Given the description of an element on the screen output the (x, y) to click on. 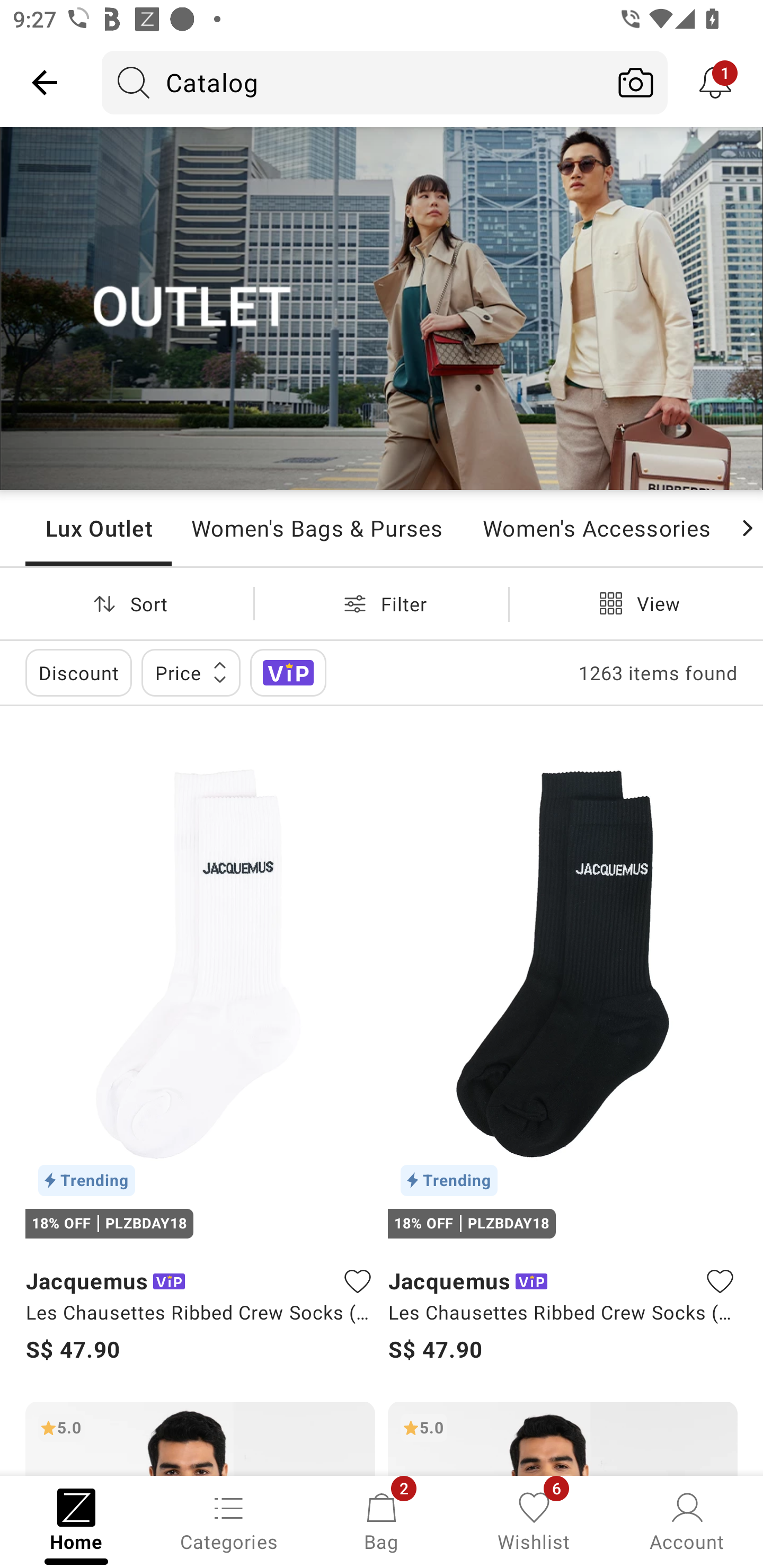
Navigate up (44, 82)
Catalog (352, 82)
Women's Bags & Purses (316, 527)
Women's Accessories (595, 527)
Sort (126, 603)
Filter (381, 603)
View (636, 603)
Discount (78, 672)
Price (190, 672)
Categories (228, 1519)
Bag, 2 new notifications Bag (381, 1519)
Wishlist, 6 new notifications Wishlist (533, 1519)
Account (686, 1519)
